Given the description of an element on the screen output the (x, y) to click on. 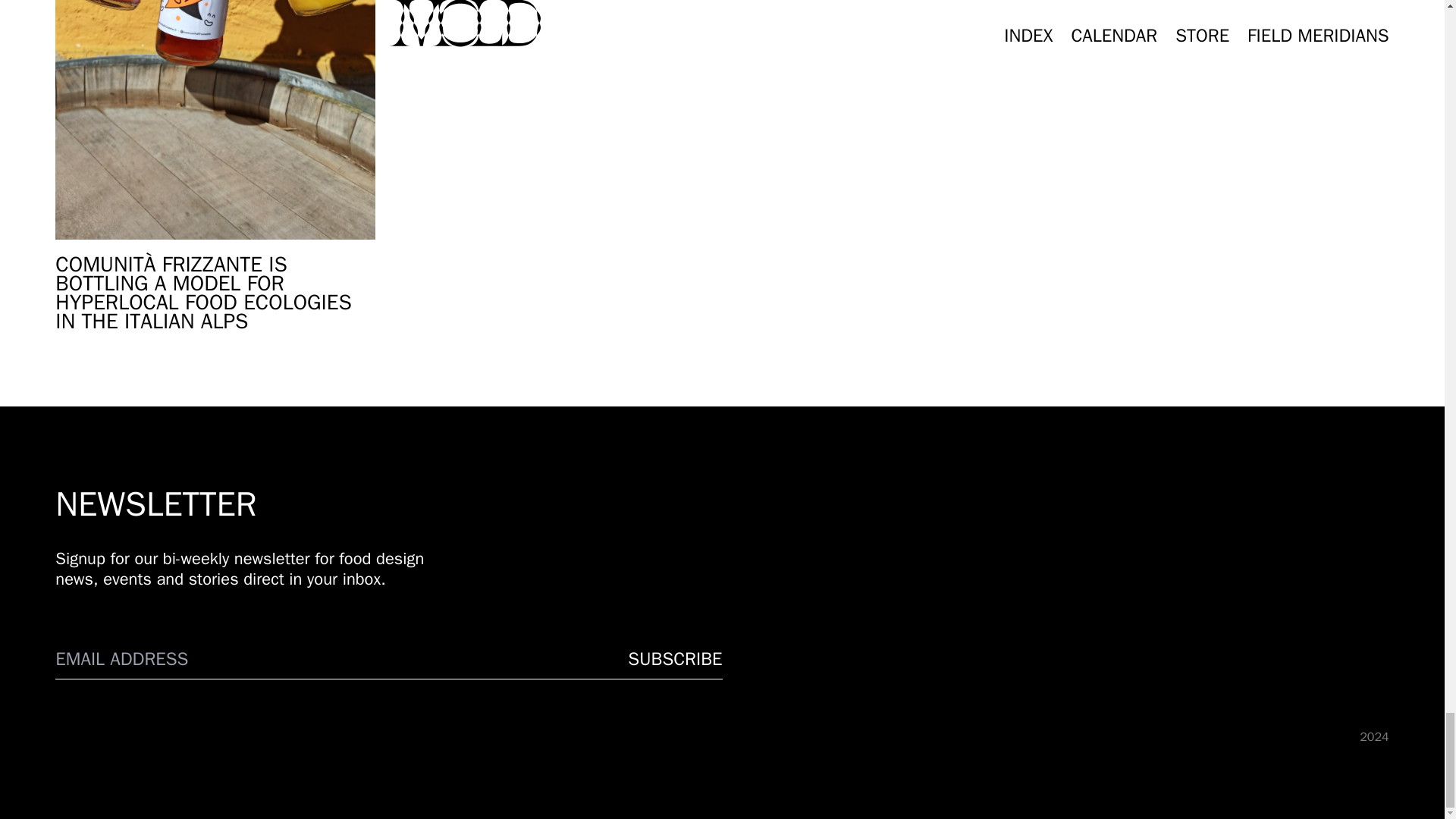
Subscribe (674, 658)
